Given the description of an element on the screen output the (x, y) to click on. 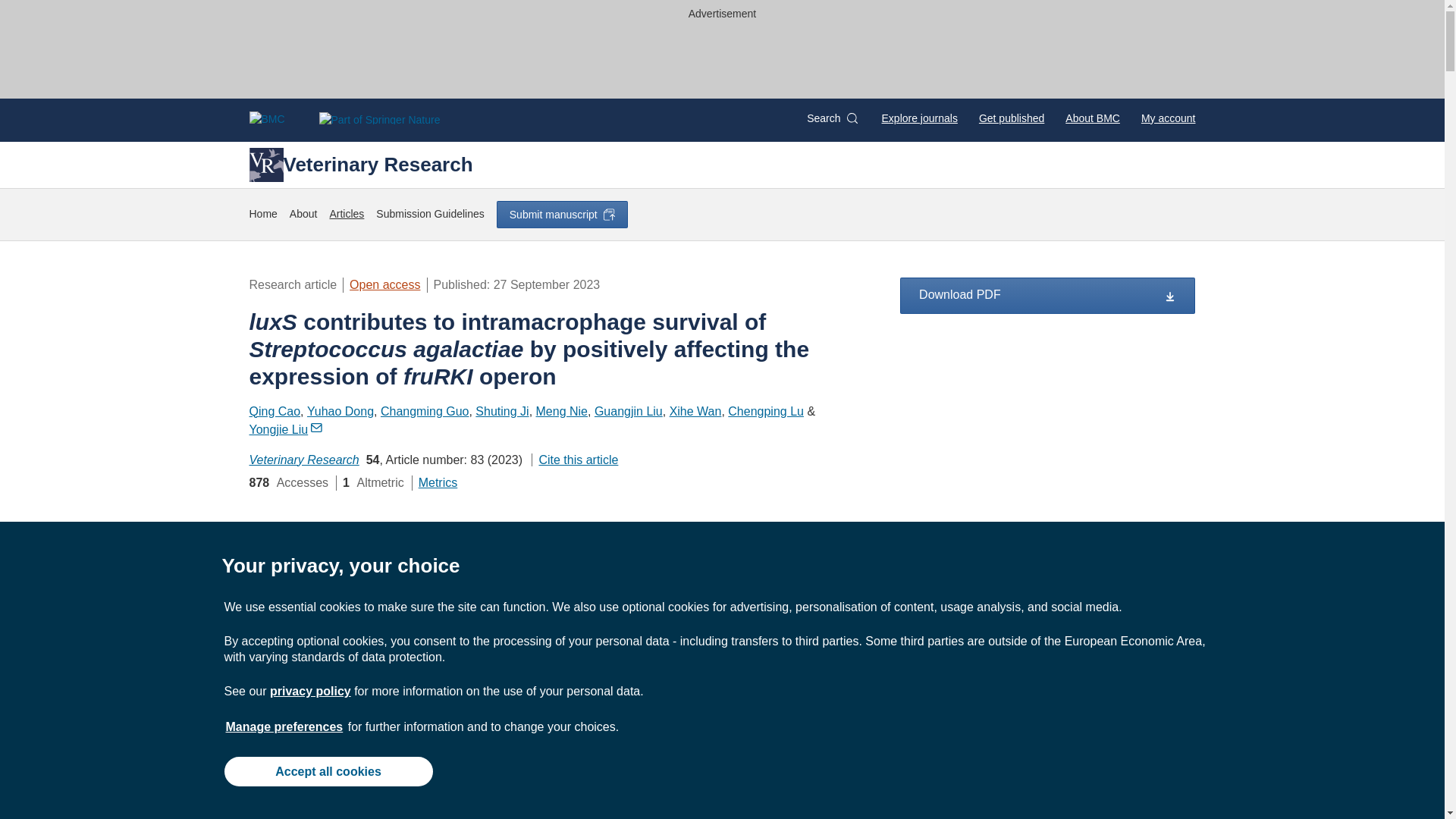
Qing Cao (273, 410)
Veterinary Research (359, 163)
Accept all cookies (328, 771)
Changming Guo (424, 410)
Chengping Lu (765, 410)
About BMC (1092, 118)
Home (262, 213)
About (303, 213)
Manage preferences (284, 726)
Get published (1010, 118)
Guangjin Liu (628, 410)
Submit manuscript (561, 213)
Search (831, 118)
Xihe Wan (695, 410)
privacy policy (309, 690)
